Given the description of an element on the screen output the (x, y) to click on. 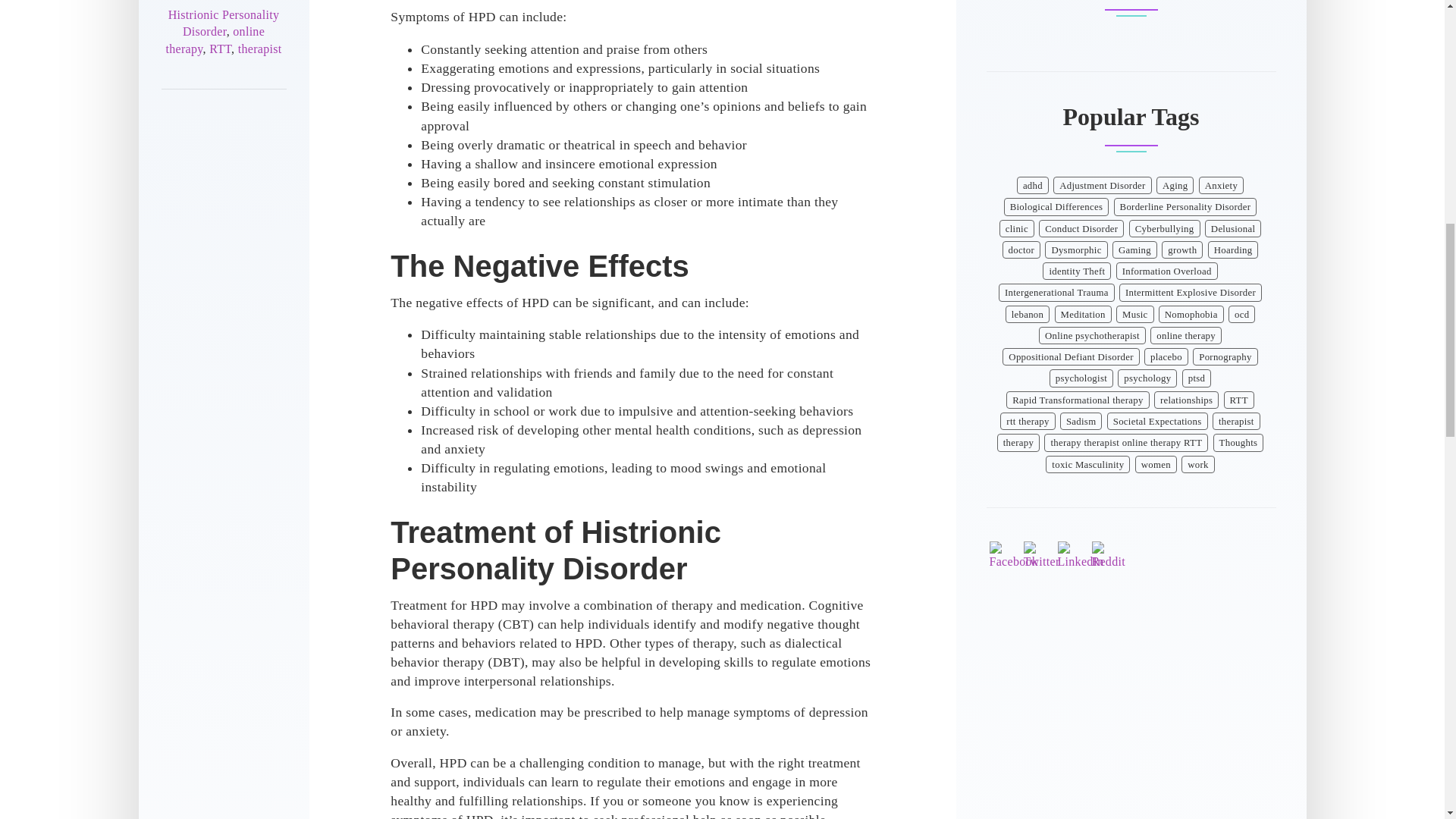
RTT (220, 48)
Histrionic Personality Disorder (223, 23)
Reddit (1108, 555)
therapist (260, 48)
Twitter (1041, 555)
LinkedIn (1080, 555)
Facebook (1013, 555)
online therapy (214, 40)
